Given the description of an element on the screen output the (x, y) to click on. 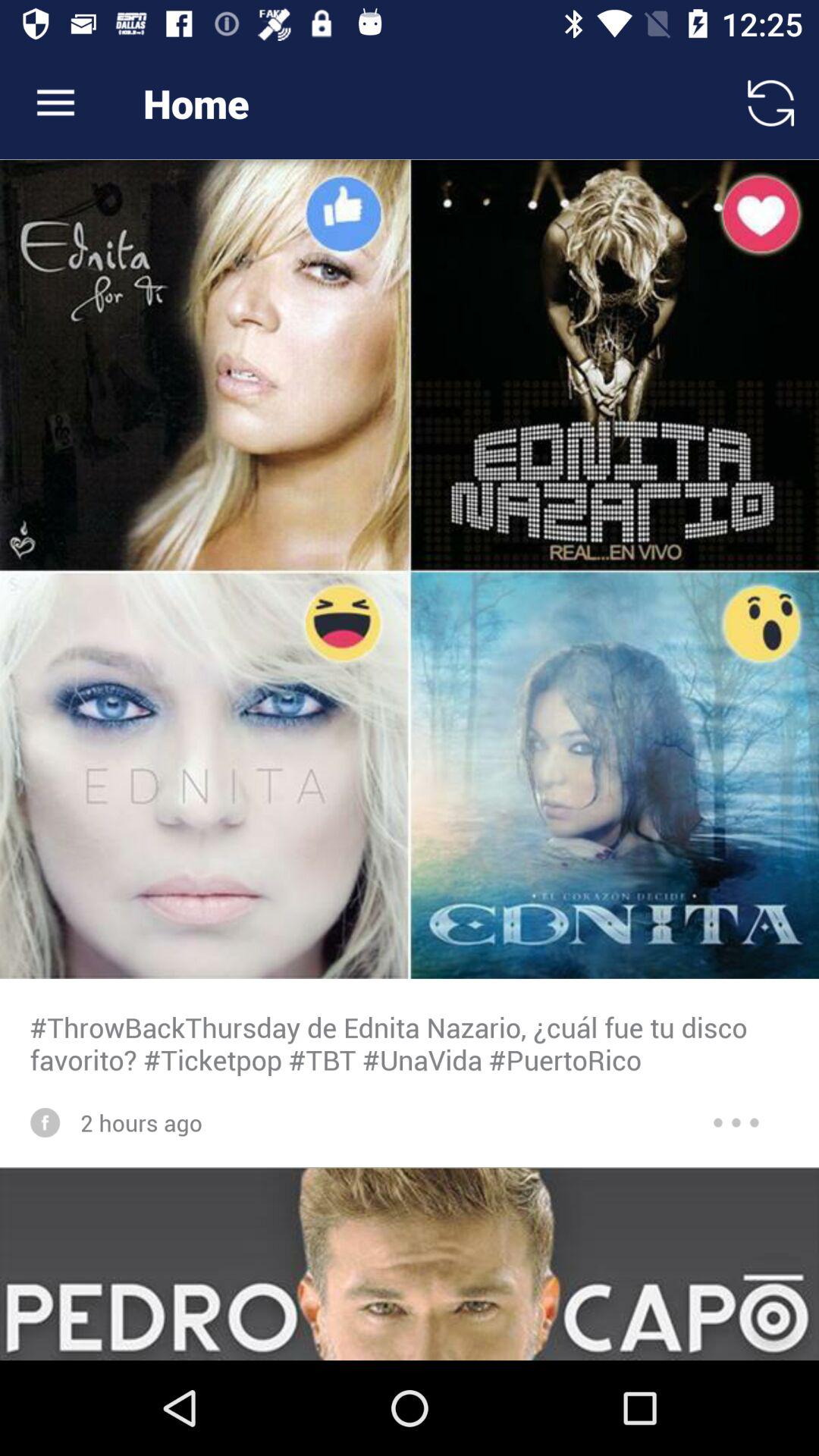
select the 2 hours ago (141, 1122)
